Given the description of an element on the screen output the (x, y) to click on. 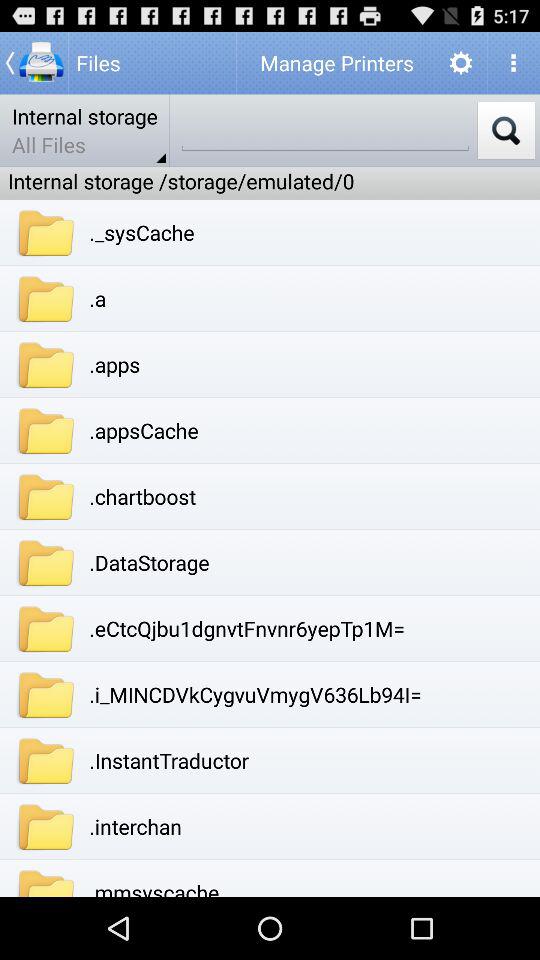
launch icon below the .a icon (114, 364)
